Given the description of an element on the screen output the (x, y) to click on. 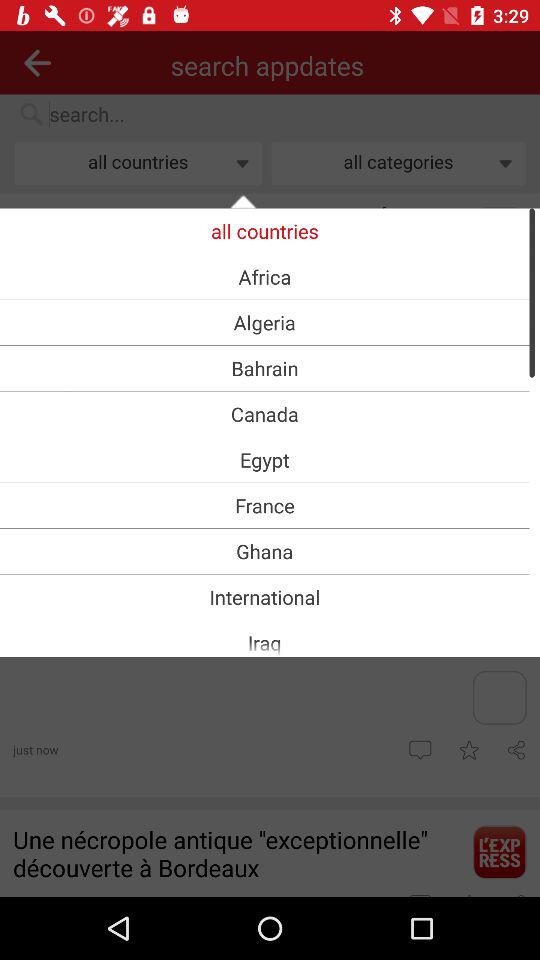
scroll to the algeria icon (264, 322)
